Given the description of an element on the screen output the (x, y) to click on. 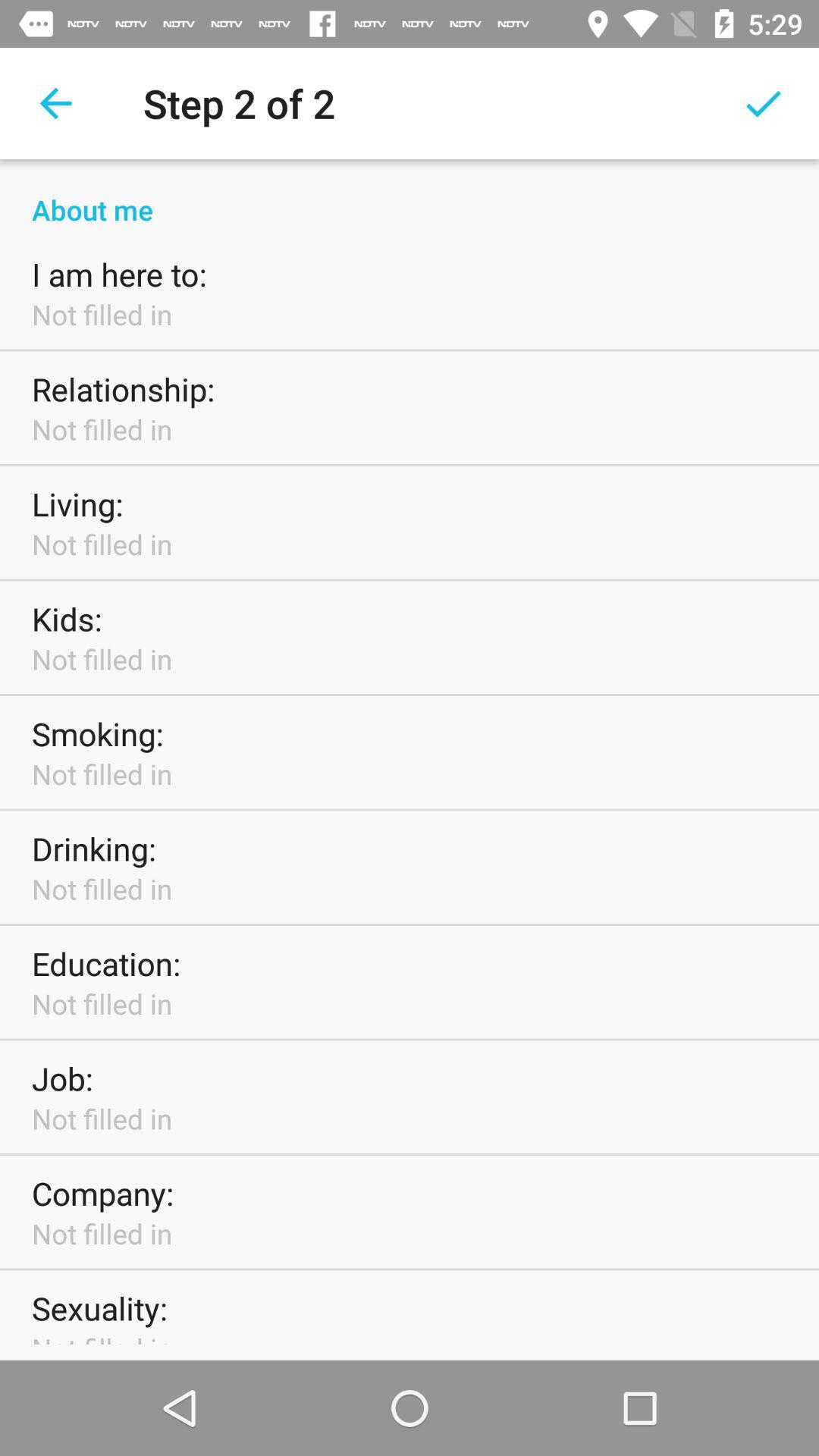
select the icon above about me (55, 103)
